Given the description of an element on the screen output the (x, y) to click on. 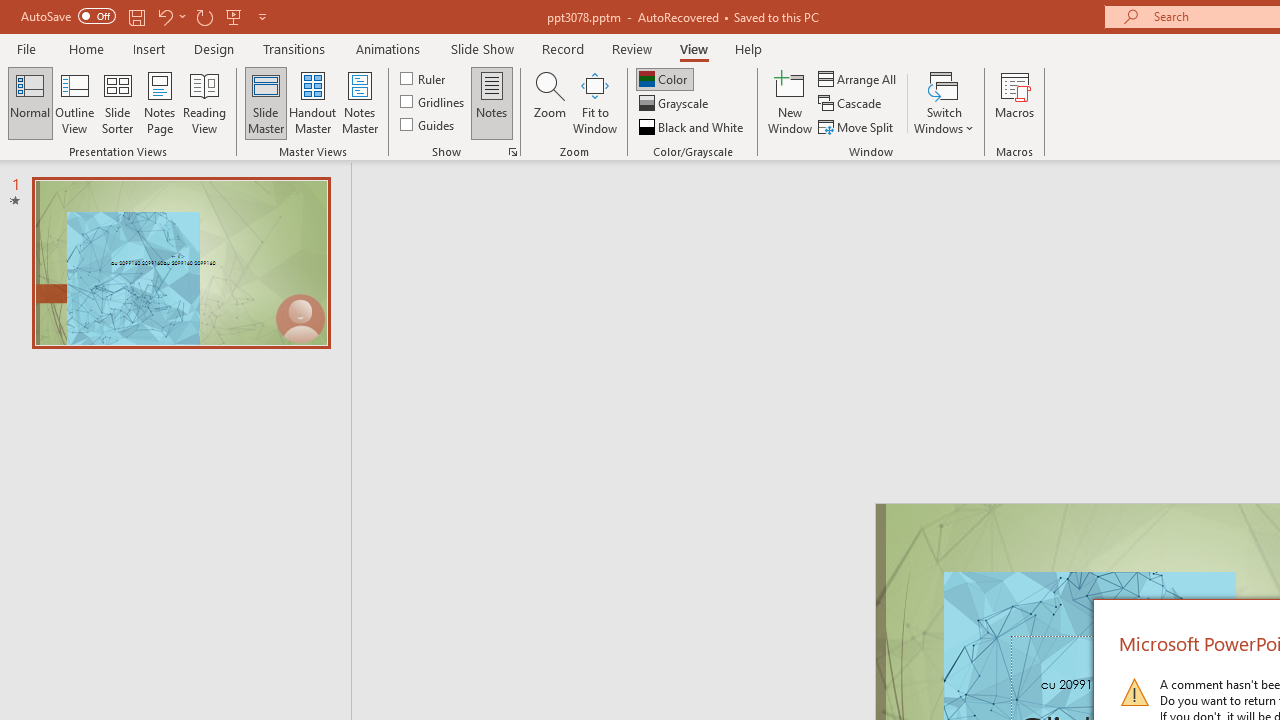
Switch Windows (943, 102)
Move Split (857, 126)
